Given the description of an element on the screen output the (x, y) to click on. 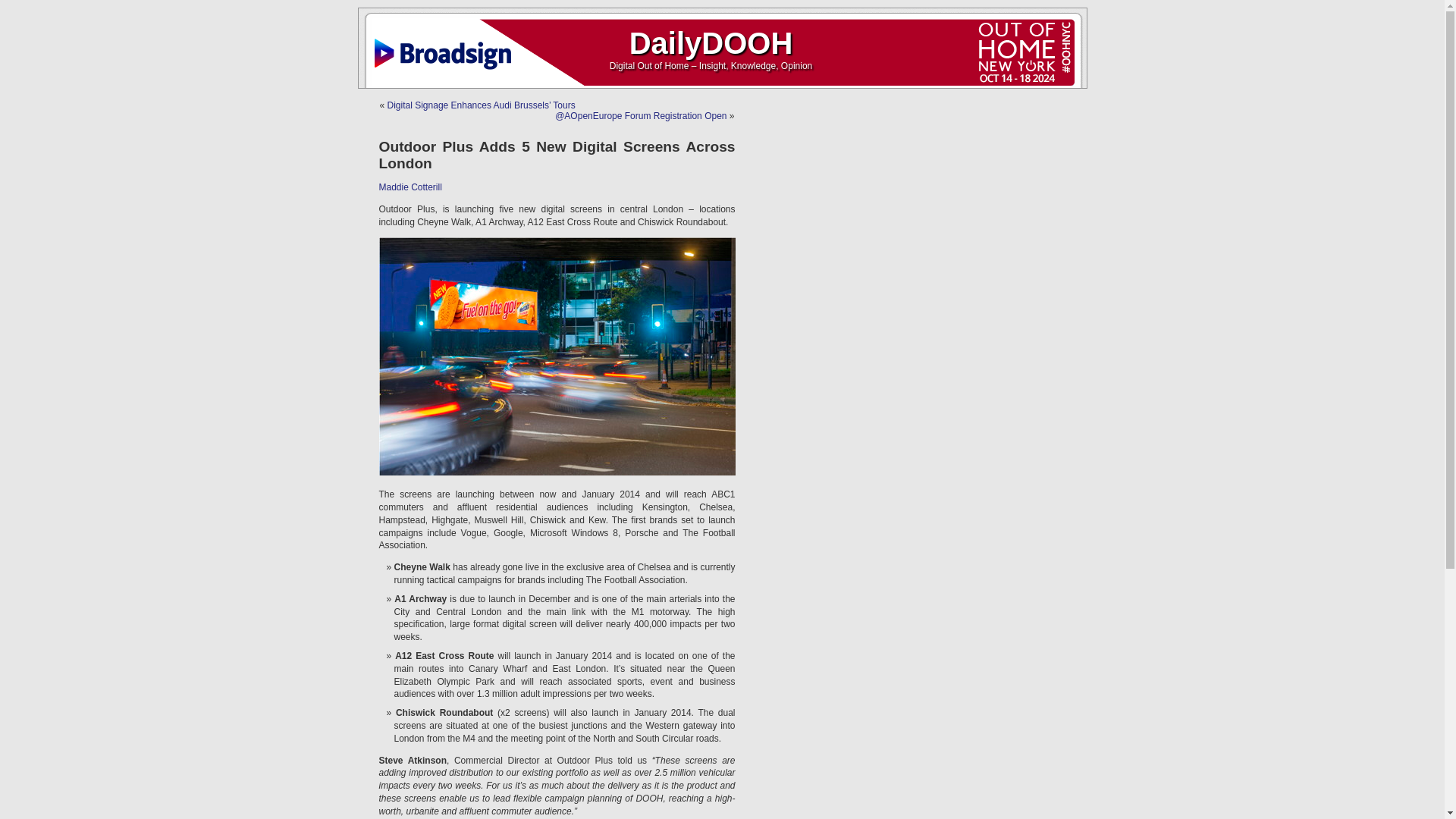
DailyDOOH (710, 42)
Outdoor Plus Adds 5 New Digital Screens Across London (556, 154)
BroadSign Digital Signage Software (445, 46)
Maddie Cotterill (410, 186)
